Given the description of an element on the screen output the (x, y) to click on. 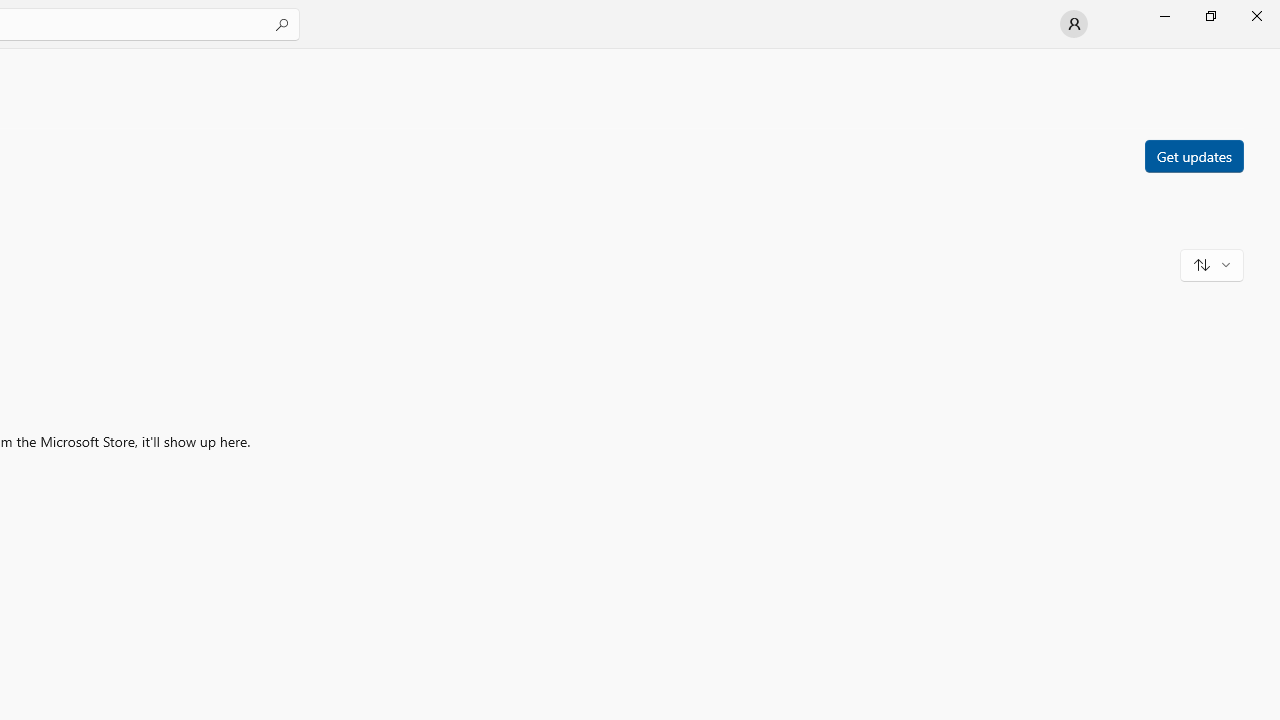
Sort and filter (1212, 263)
Get updates (1193, 155)
